Given the description of an element on the screen output the (x, y) to click on. 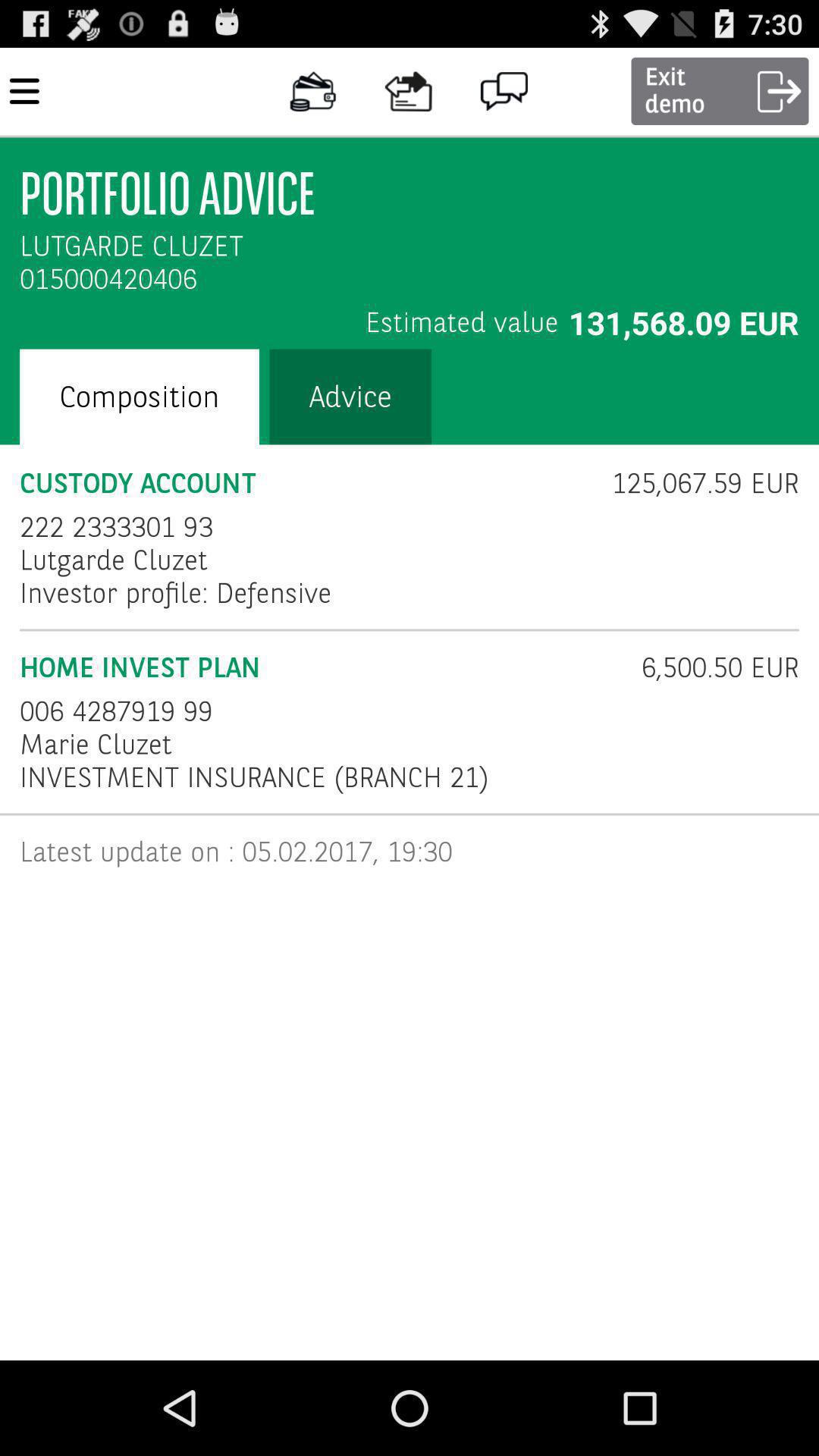
click the checkbox to the left of the 6 500 50 icon (320, 667)
